Given the description of an element on the screen output the (x, y) to click on. 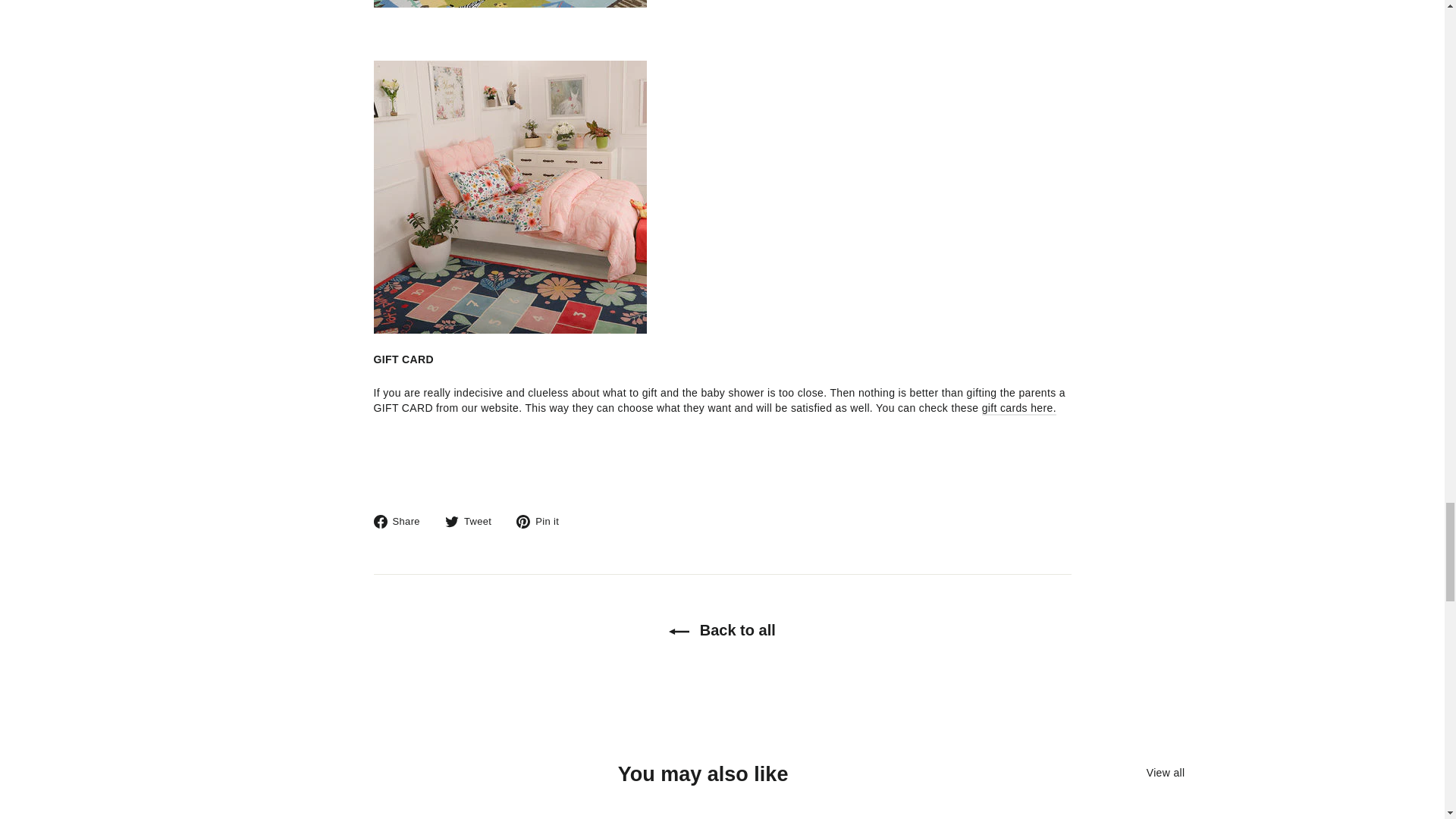
Share on Facebook (401, 522)
twitter (451, 521)
Pin on Pinterest (543, 522)
icon-left-arrow (678, 631)
Tweet on Twitter (473, 522)
